Given the description of an element on the screen output the (x, y) to click on. 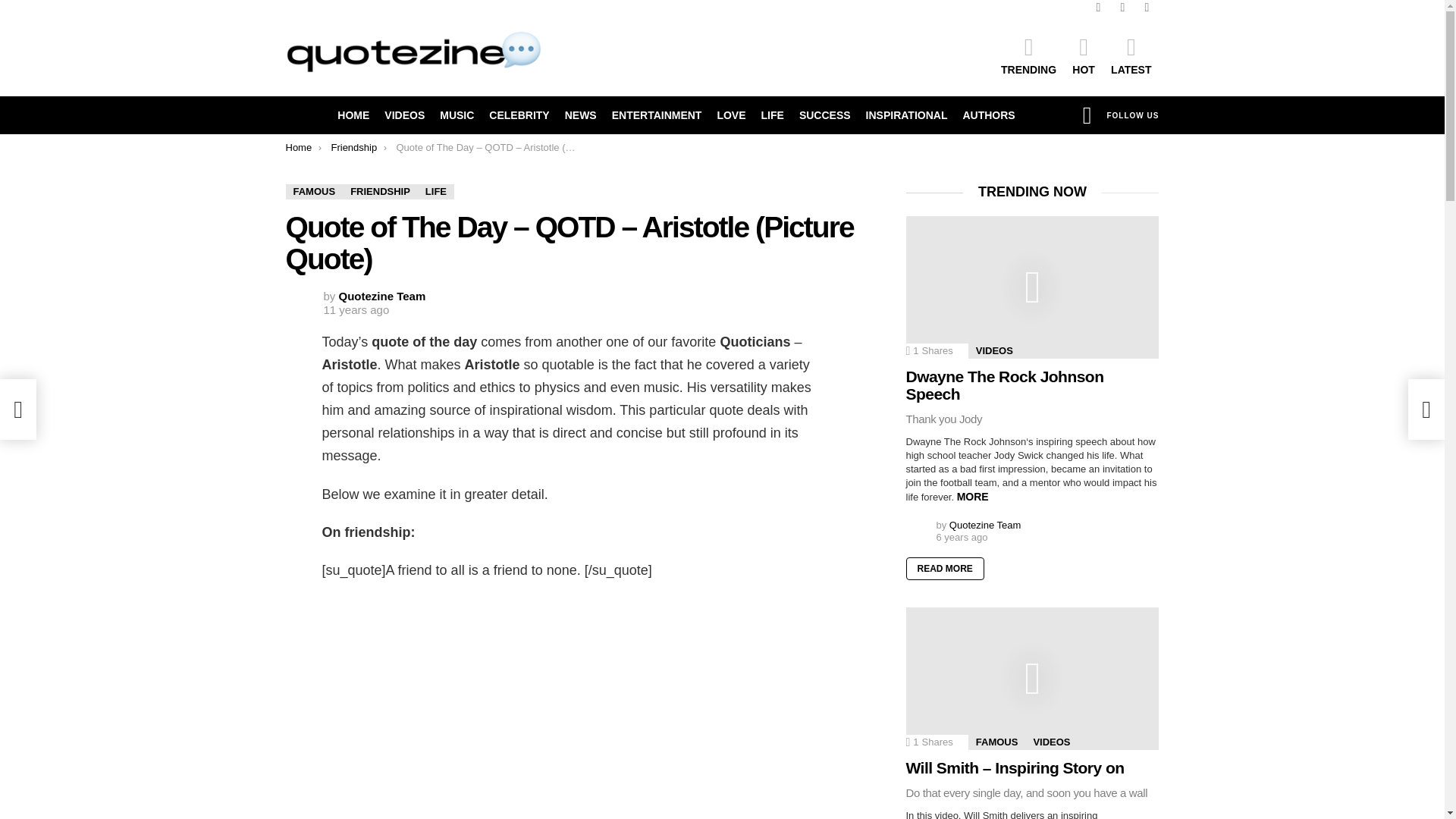
HOME (353, 115)
LIFE (435, 191)
FOLLOW US (1132, 114)
LOVE (730, 115)
pinterest (1146, 7)
MUSIC (456, 115)
FRIENDSHIP (379, 191)
ENTERTAINMENT (657, 115)
Home (298, 147)
Posts by Quotezine Team (382, 295)
Twitter (1121, 7)
Follow us (1132, 114)
Friendship (353, 147)
TRENDING (1028, 55)
AUTHORS (988, 115)
